Given the description of an element on the screen output the (x, y) to click on. 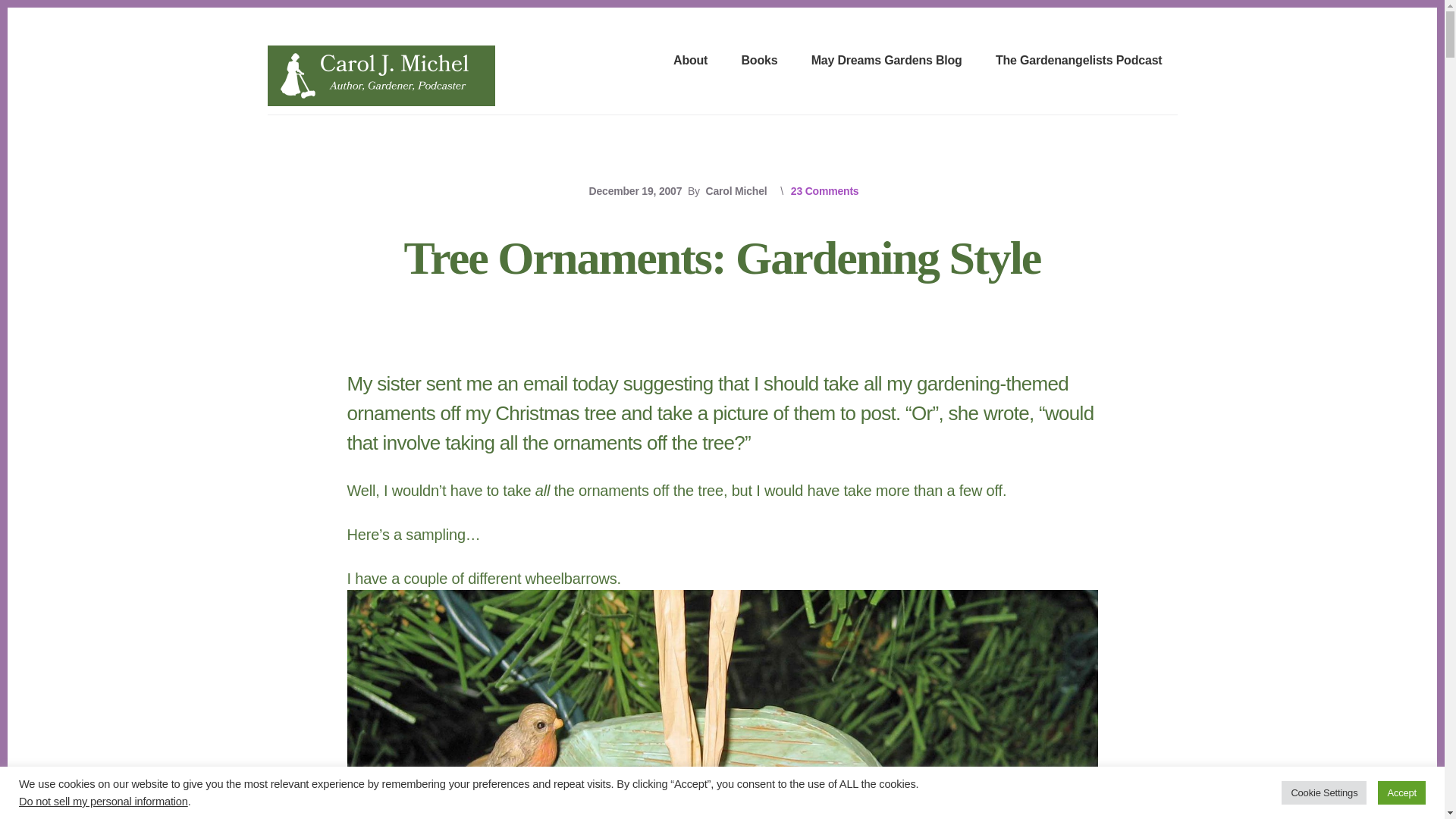
Carol Michel (736, 191)
23 Comments (824, 191)
The Gardenangelists Podcast (1079, 61)
Books (759, 61)
May Dreams Gardens Blog (886, 61)
About (689, 61)
